Given the description of an element on the screen output the (x, y) to click on. 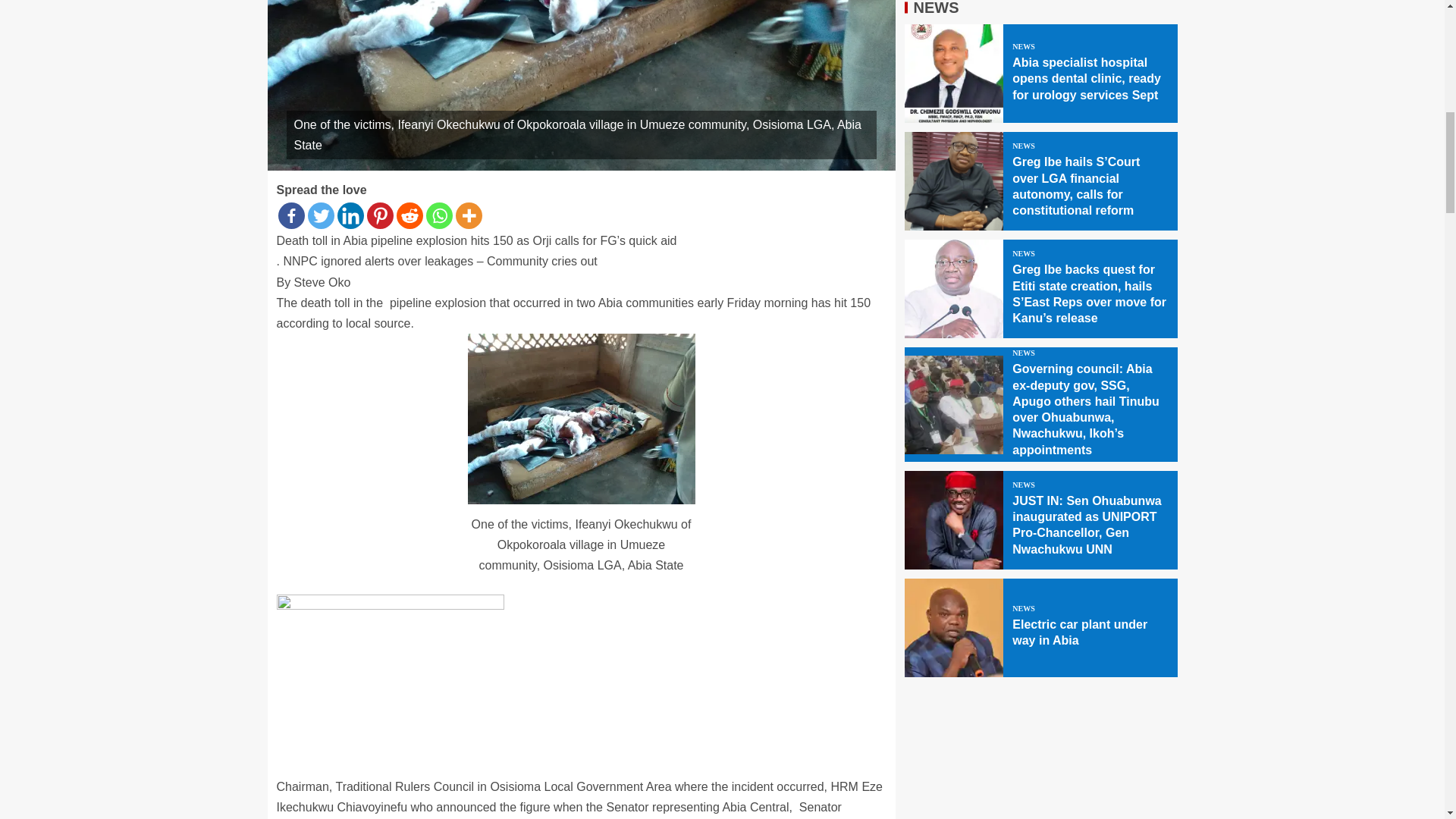
Twitter (320, 215)
Facebook (291, 215)
Pinterest (379, 215)
Linkedin (349, 215)
Reddit (409, 215)
Whatsapp (439, 215)
More (467, 215)
